Given the description of an element on the screen output the (x, y) to click on. 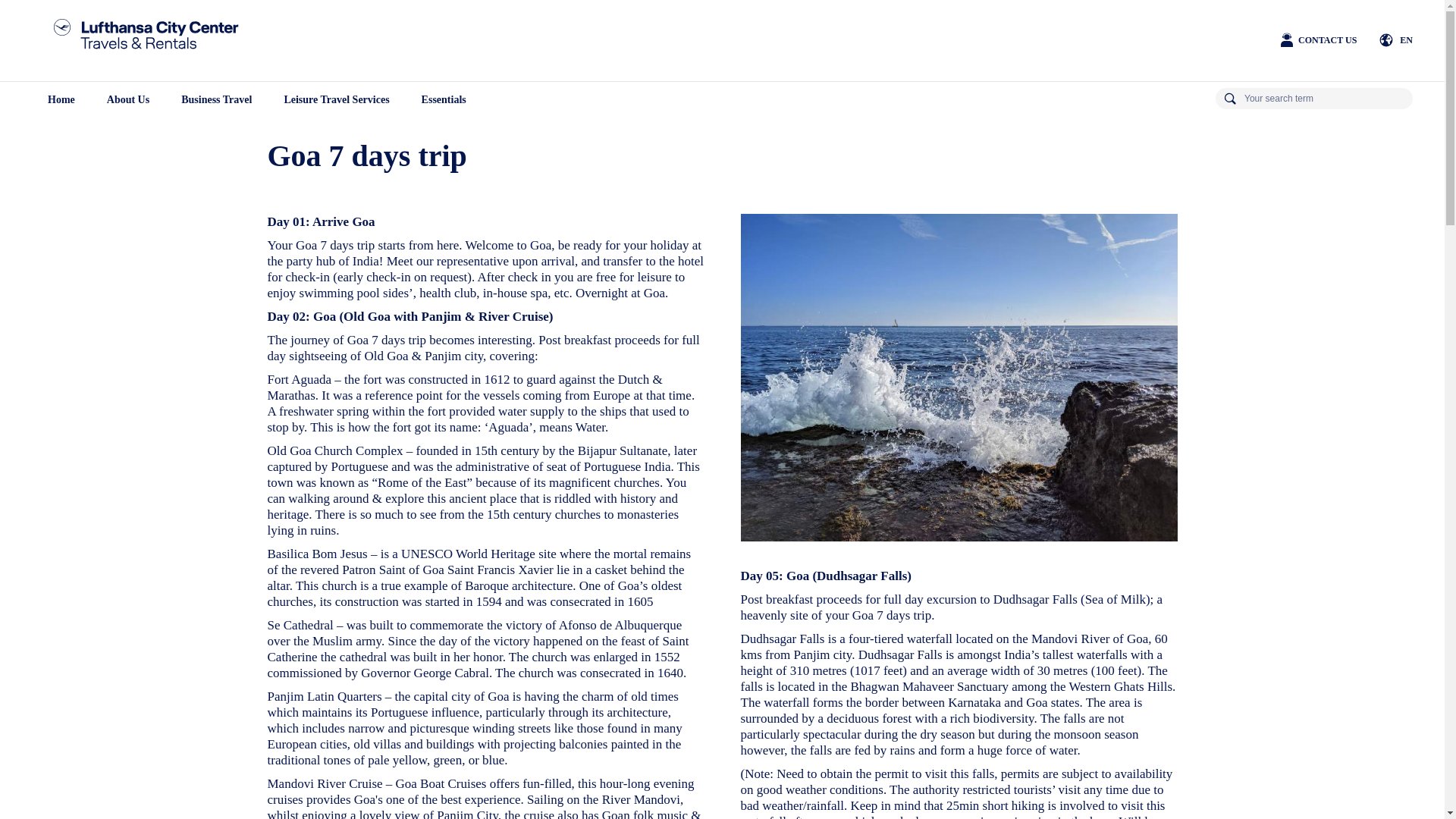
Business Travel (216, 99)
Home (61, 99)
CONTACT US (1316, 39)
About Us (127, 99)
Leisure Travel Services (335, 99)
Essentials (443, 99)
Contact Us (1316, 39)
